Given the description of an element on the screen output the (x, y) to click on. 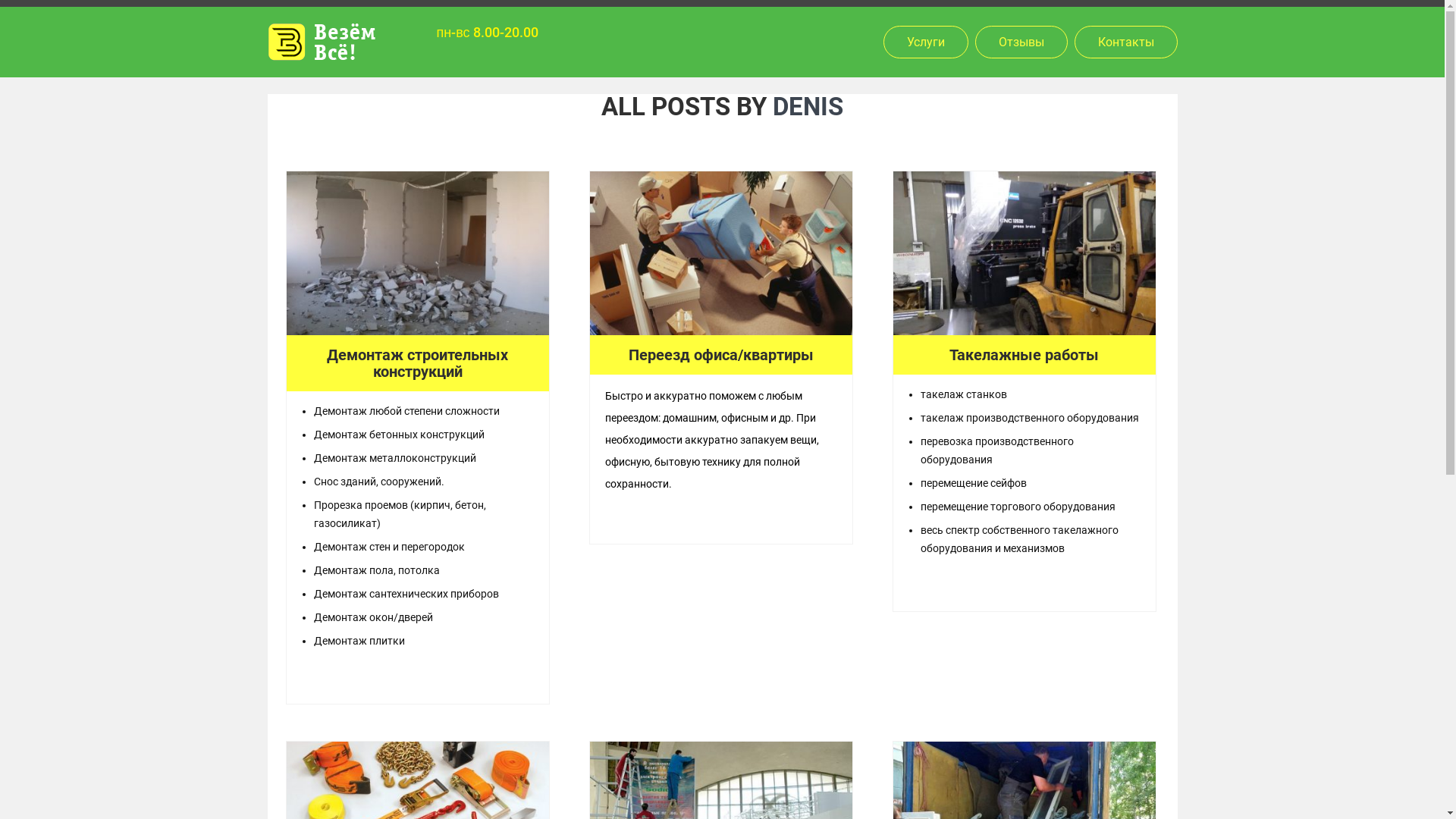
Continue reading Element type: text (417, 679)
Continue reading Element type: text (720, 519)
Continue reading Element type: text (1023, 586)
DENIS Element type: text (807, 106)
